Given the description of an element on the screen output the (x, y) to click on. 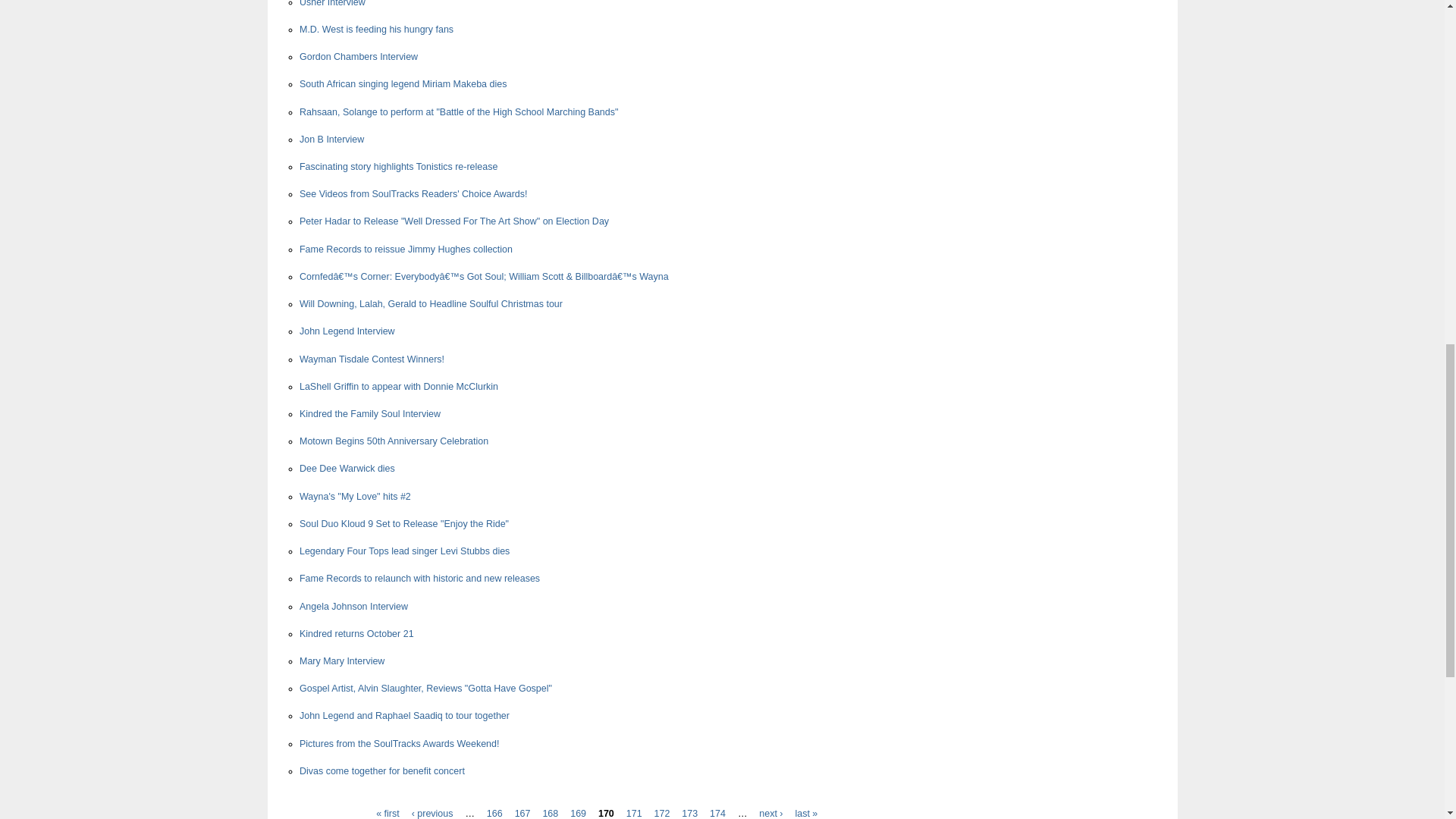
Go to page 167 (523, 813)
Go to page 166 (494, 813)
Go to page 168 (549, 813)
Go to previous page (432, 813)
Go to first page (386, 813)
Go to page 169 (578, 813)
Go to page 171 (634, 813)
